Given the description of an element on the screen output the (x, y) to click on. 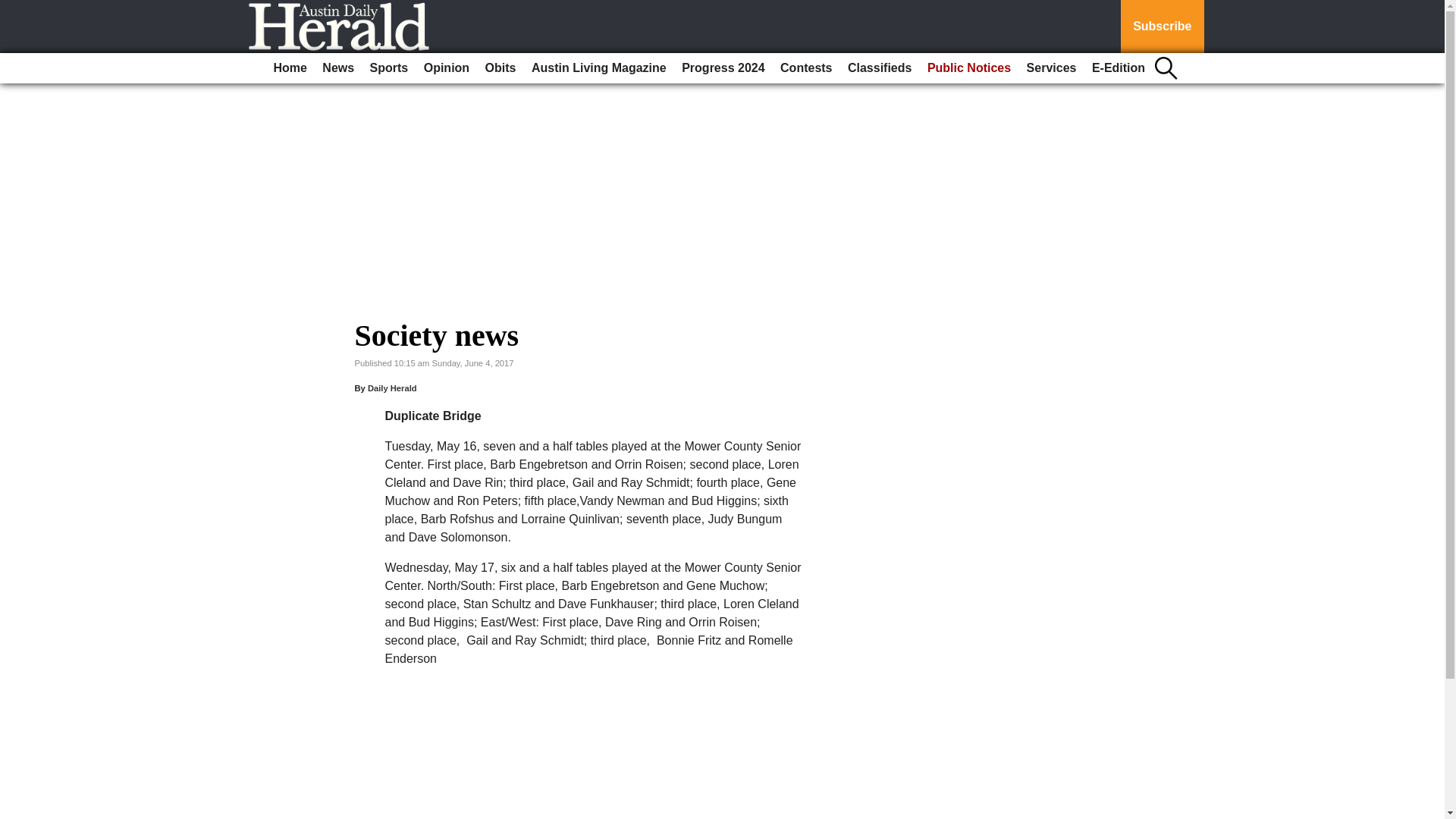
Opinion (446, 68)
Classifieds (879, 68)
Home (289, 68)
Austin Living Magazine (598, 68)
News (337, 68)
Public Notices (968, 68)
Services (1051, 68)
Subscribe (1162, 26)
Progress 2024 (722, 68)
Contests (806, 68)
Sports (389, 68)
Obits (500, 68)
